Given the description of an element on the screen output the (x, y) to click on. 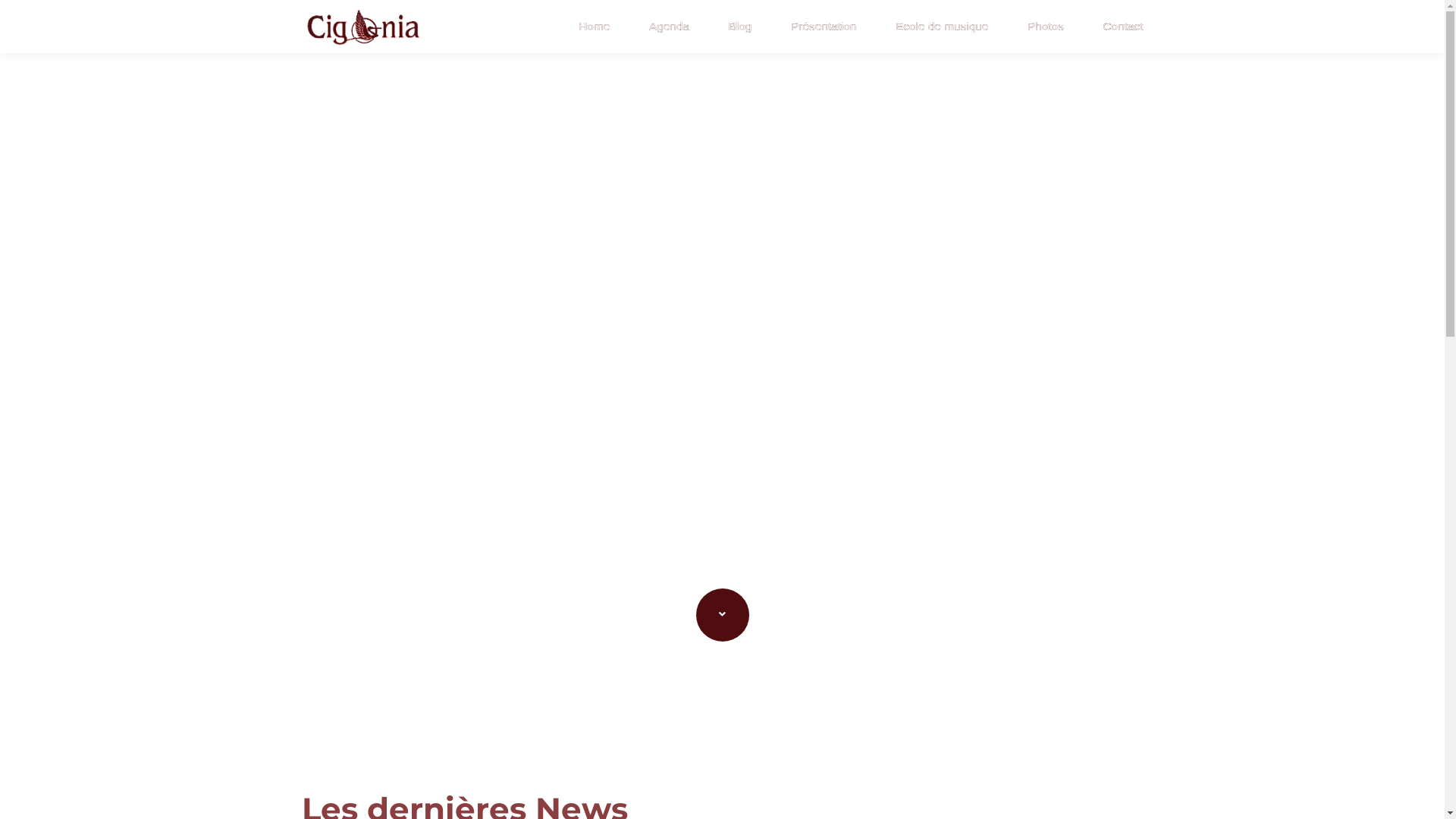
Agenda Element type: text (669, 25)
Photos Element type: text (1045, 25)
Ecole de musique Element type: text (941, 25)
Contact Element type: text (1122, 25)
Home Element type: text (593, 25)
Blog Element type: text (740, 25)
